Given the description of an element on the screen output the (x, y) to click on. 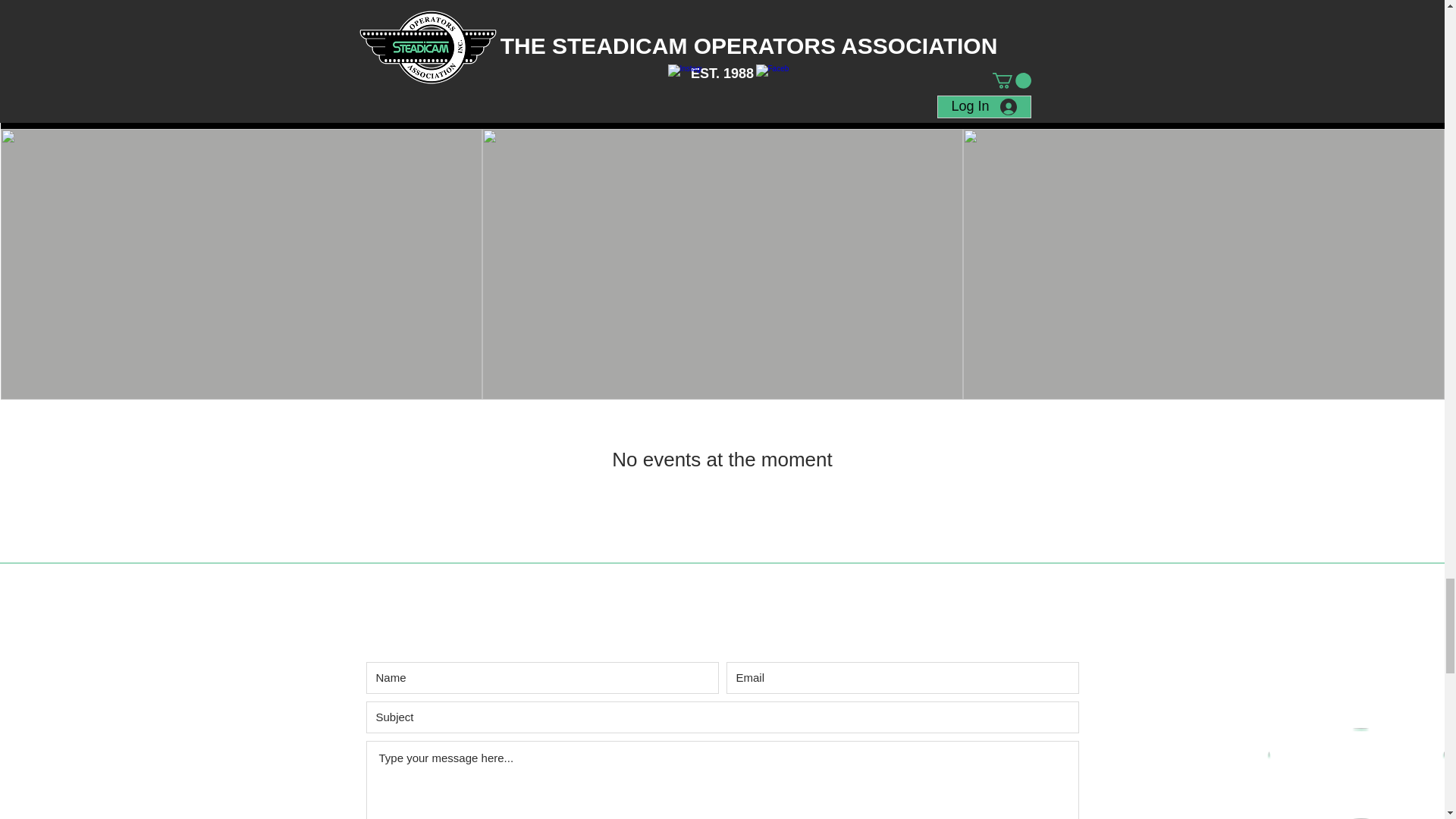
All Categories (1346, 64)
